Given the description of an element on the screen output the (x, y) to click on. 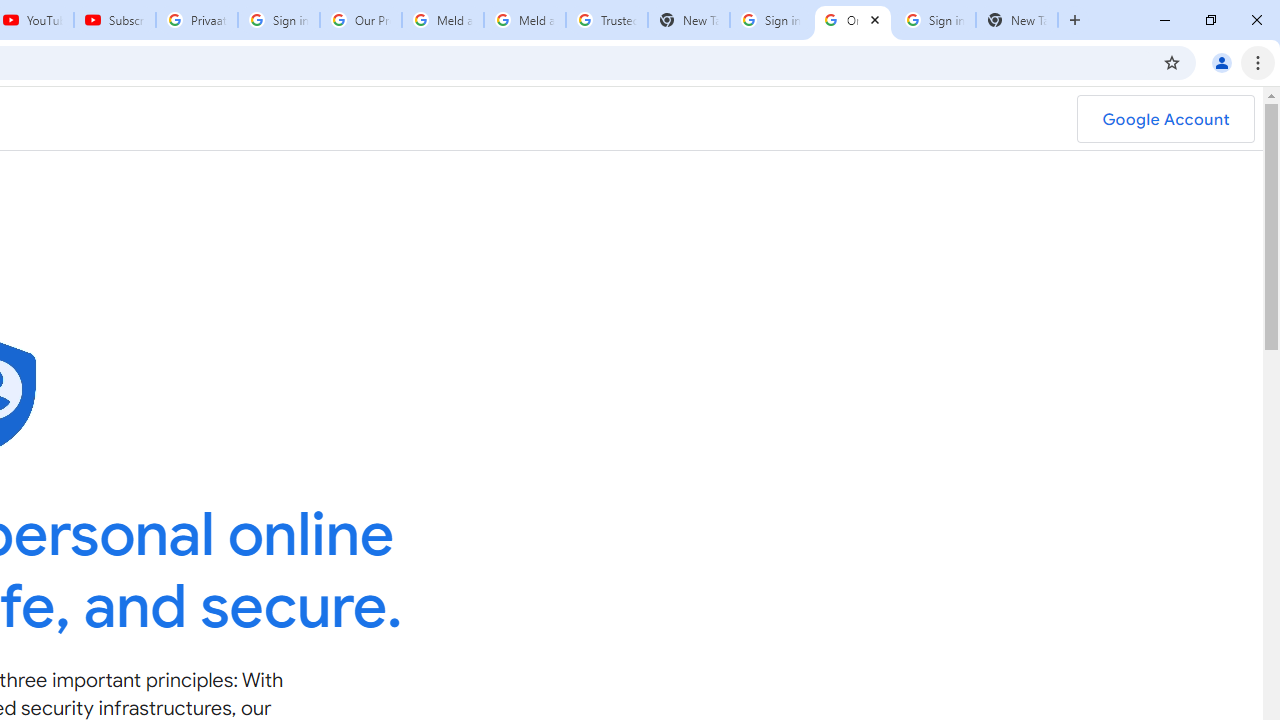
Auto-hide Reading Toolbar (1027, 19)
Line up (595, 287)
